Given the description of an element on the screen output the (x, y) to click on. 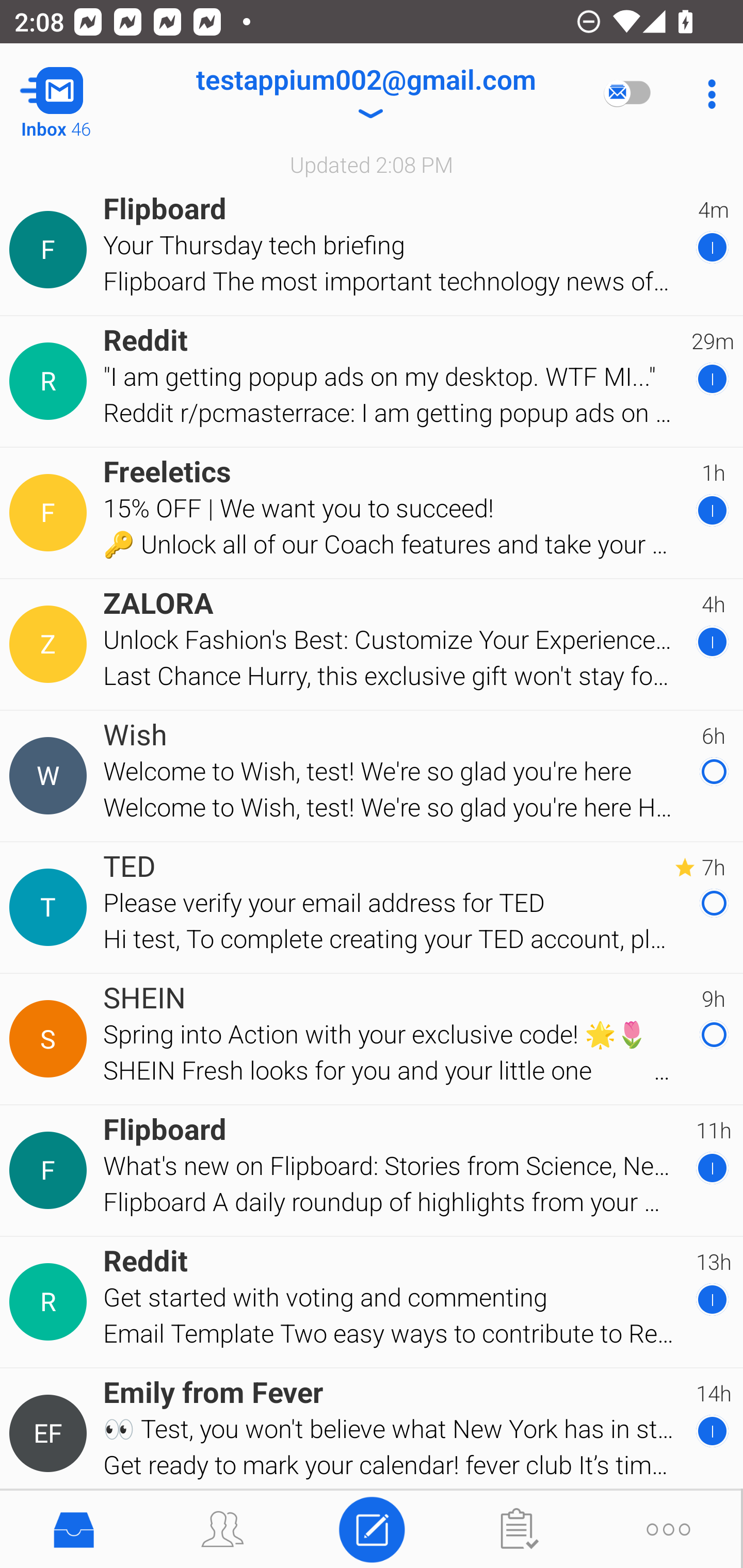
Navigate up (81, 93)
testappium002@gmail.com (365, 93)
More Options (706, 93)
Updated 2:08 PM (371, 164)
Contact Details (50, 250)
Contact Details (50, 381)
Contact Details (50, 513)
Contact Details (50, 644)
Contact Details (50, 776)
Contact Details (50, 907)
Contact Details (50, 1038)
Contact Details (50, 1170)
Contact Details (50, 1302)
Contact Details (50, 1433)
